Given the description of an element on the screen output the (x, y) to click on. 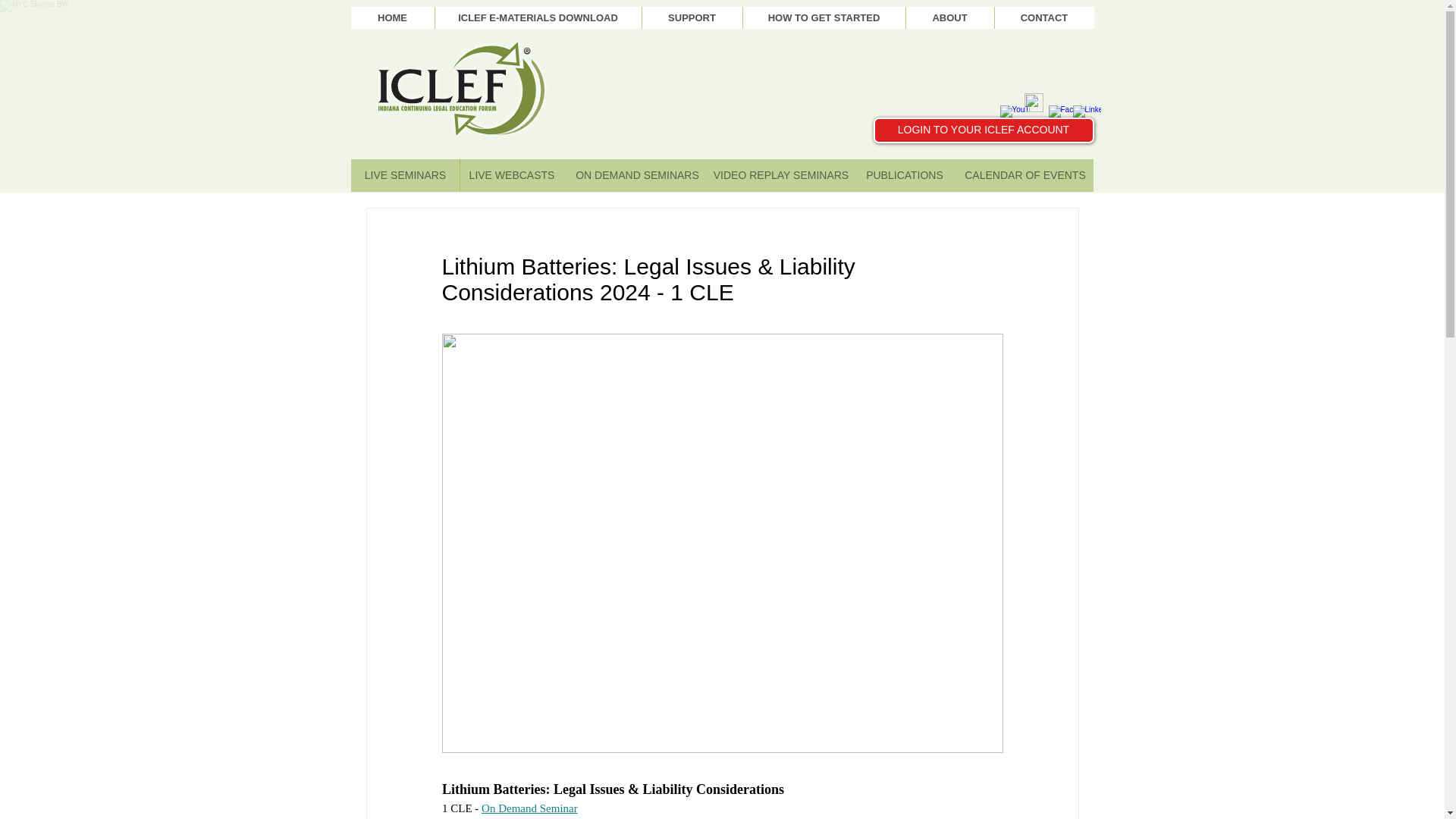
LIVE SEMINARS (405, 174)
PUBLICATIONS (904, 174)
CALENDAR OF EVENTS (1024, 174)
On Demand Seminar (529, 808)
HOME (391, 17)
CONTACT (1042, 17)
LOGIN TO YOUR ICLEF ACCOUNT (983, 130)
LIVE WEBCASTS (512, 174)
ON DEMAND SEMINARS (637, 174)
ICLEF E-MATERIALS DOWNLOAD (536, 17)
